Given the description of an element on the screen output the (x, y) to click on. 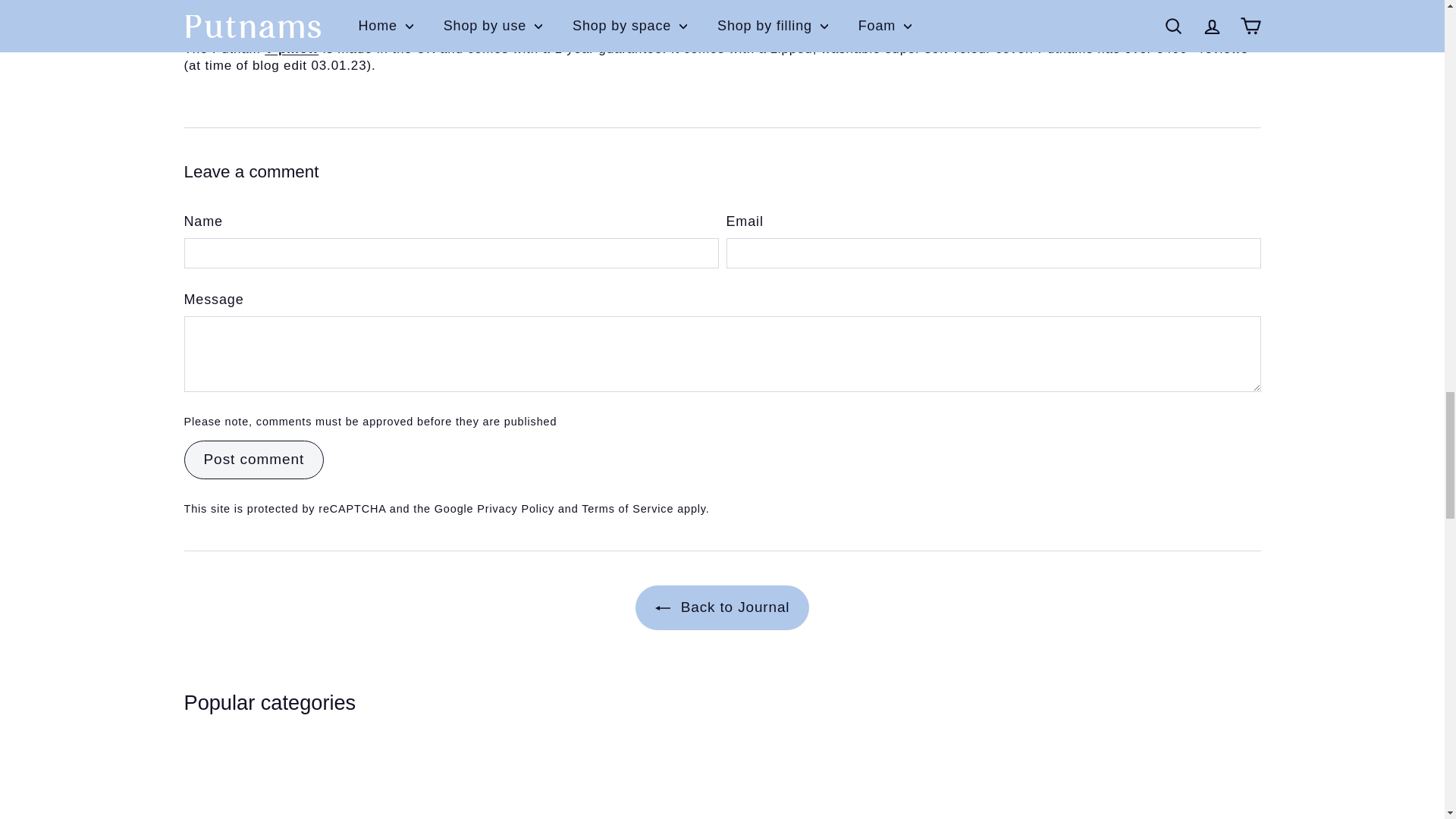
icon-left-arrow (662, 607)
